Given the description of an element on the screen output the (x, y) to click on. 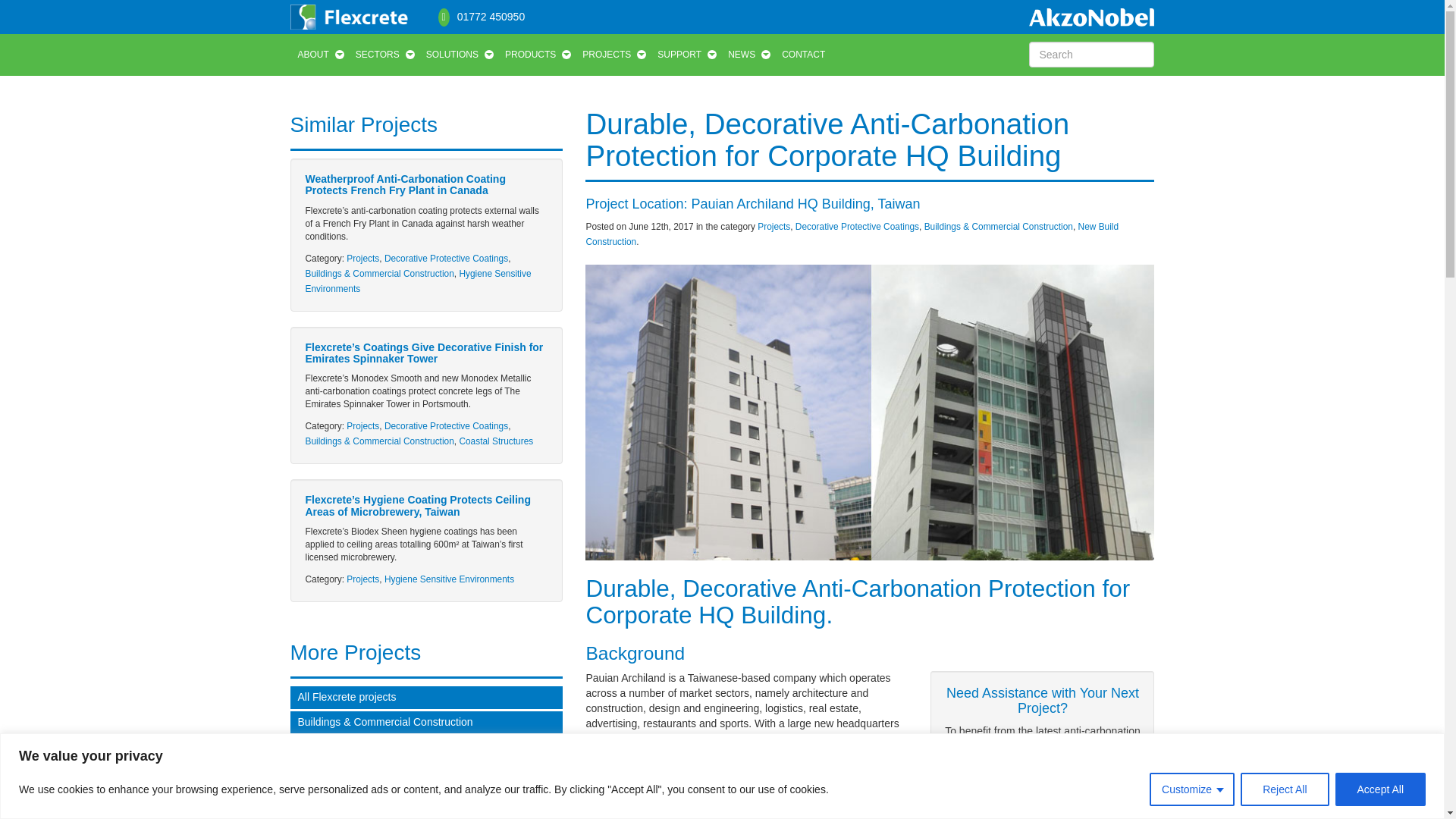
Reject All (1283, 788)
ABOUT (318, 54)
01772 450950 (481, 12)
SOLUTIONS (458, 54)
Structural Repair and Protection Technology (351, 15)
SECTORS (383, 54)
Customize (1192, 788)
Accept All (1380, 788)
